Given the description of an element on the screen output the (x, y) to click on. 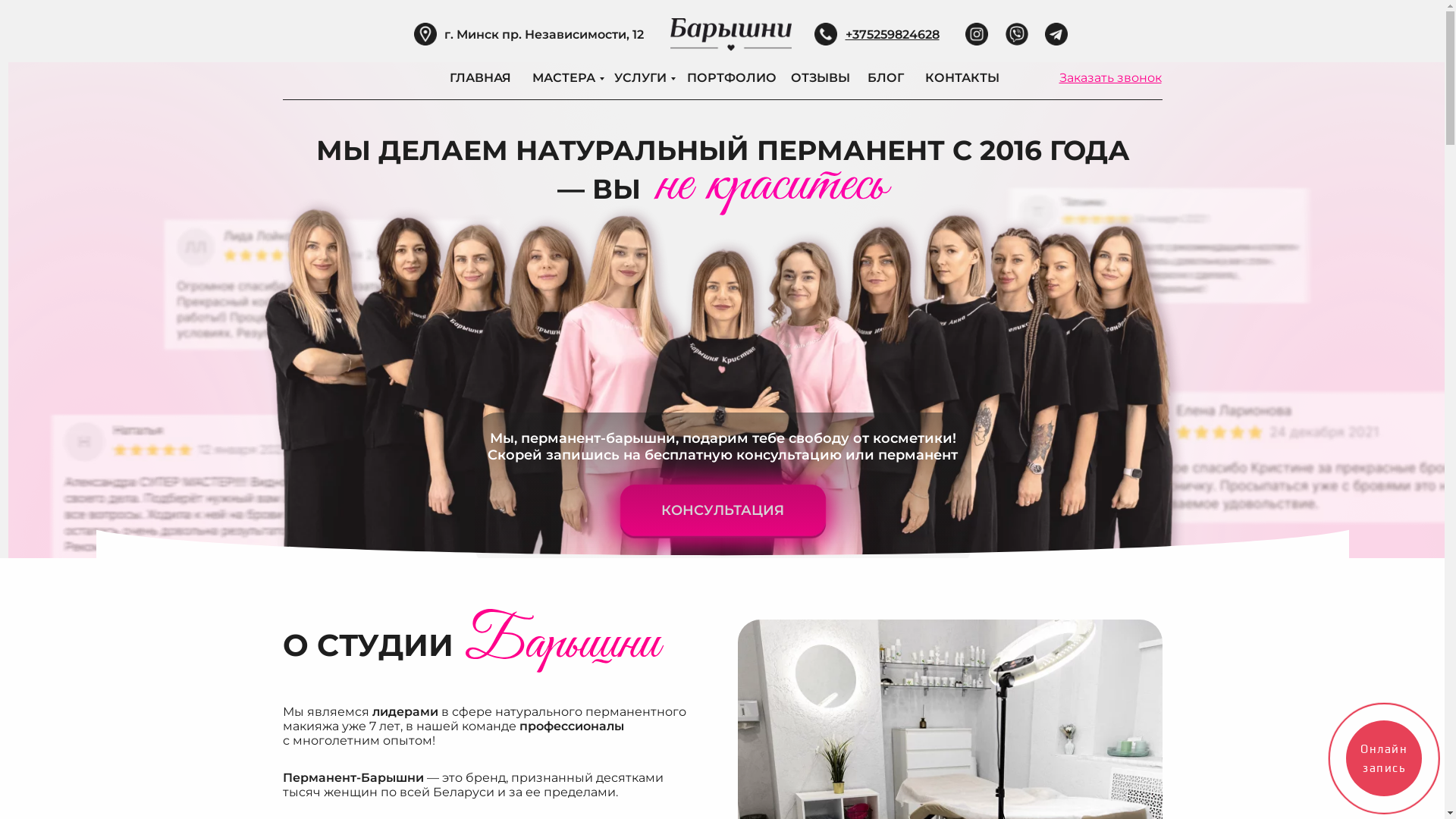
+375259824628 Element type: text (891, 34)
